Given the description of an element on the screen output the (x, y) to click on. 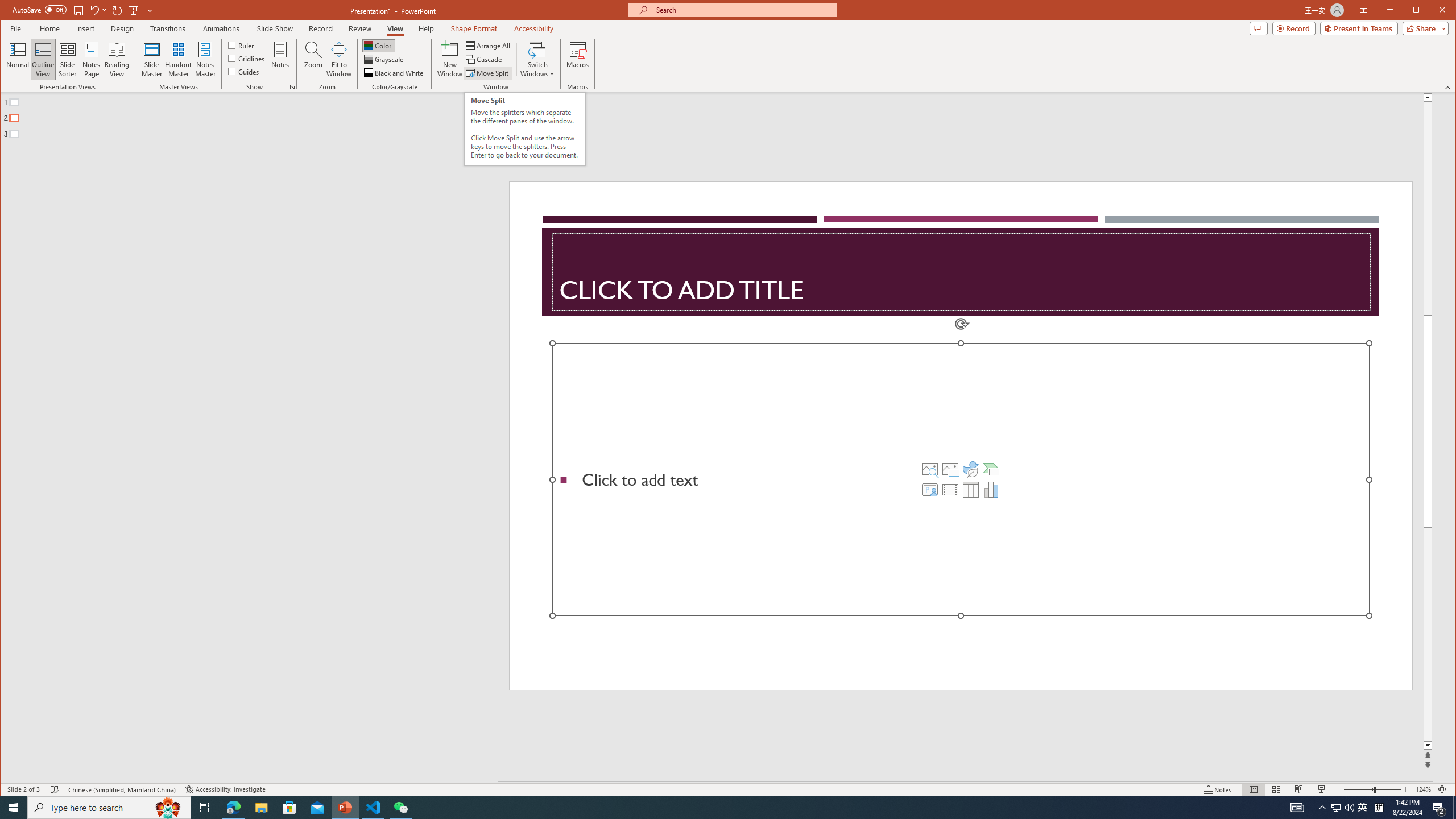
Arrange All (488, 45)
Insert Table (970, 489)
Outline View (42, 59)
